Given the description of an element on the screen output the (x, y) to click on. 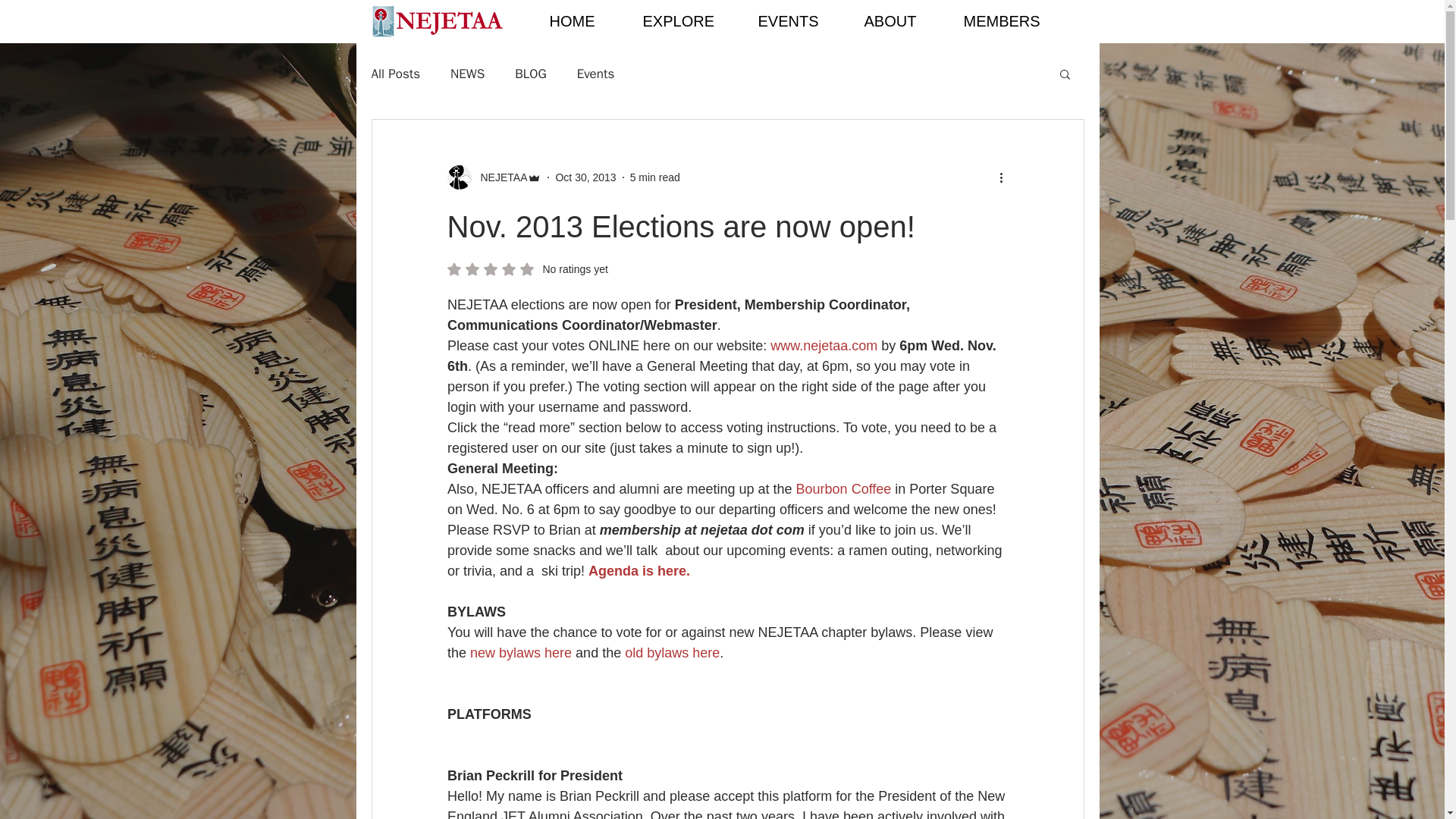
Events (595, 73)
old bylaws here (671, 652)
ABOUT (900, 21)
Oct 30, 2013 (584, 177)
NEWS (466, 73)
Bourbon Coffee (842, 488)
EVENTS (798, 21)
All Posts (527, 269)
5 min read (395, 73)
NEJETAA (654, 177)
NEJETAA (499, 177)
MEMBERS (493, 177)
BLOG (1011, 21)
Agenda is here. (530, 73)
